Given the description of an element on the screen output the (x, y) to click on. 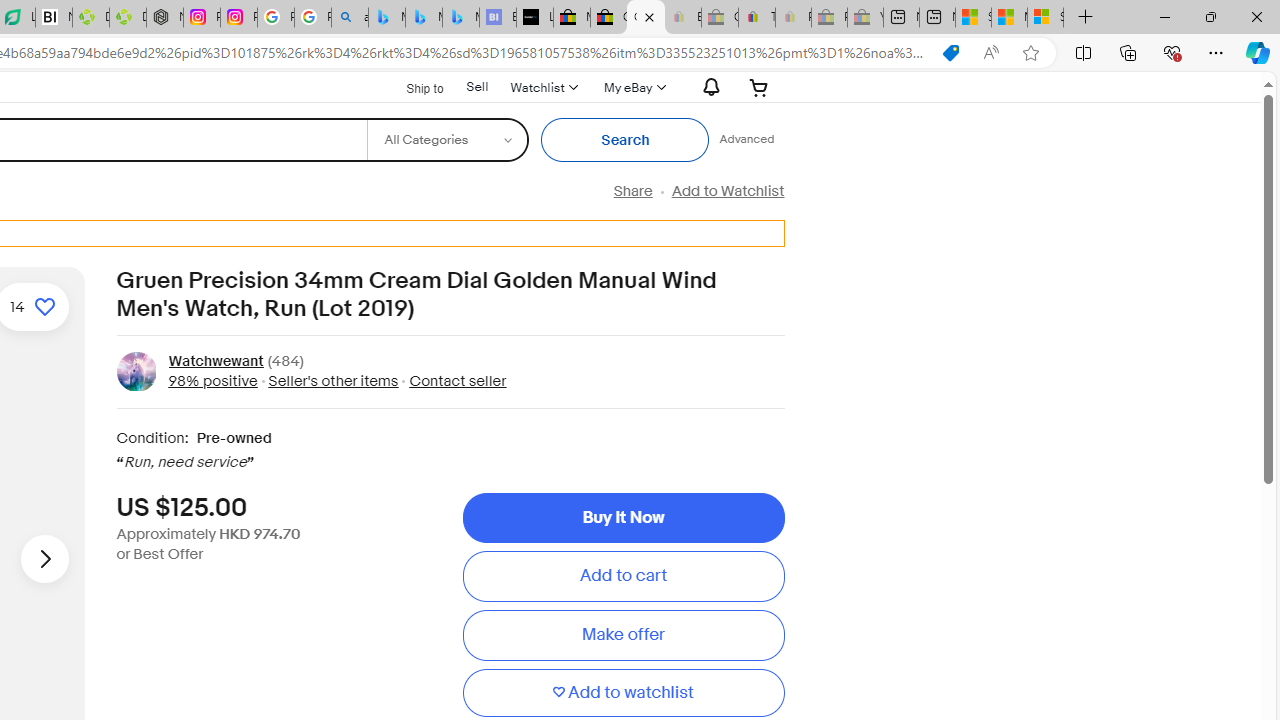
Sell (476, 87)
This site has coupons! Shopping in Microsoft Edge (950, 53)
My eBay (632, 87)
Watchlist (543, 87)
Shanghai, China hourly forecast | Microsoft Weather (973, 17)
Notifications (706, 87)
Ship to (412, 85)
  Seller's other items (328, 380)
